Given the description of an element on the screen output the (x, y) to click on. 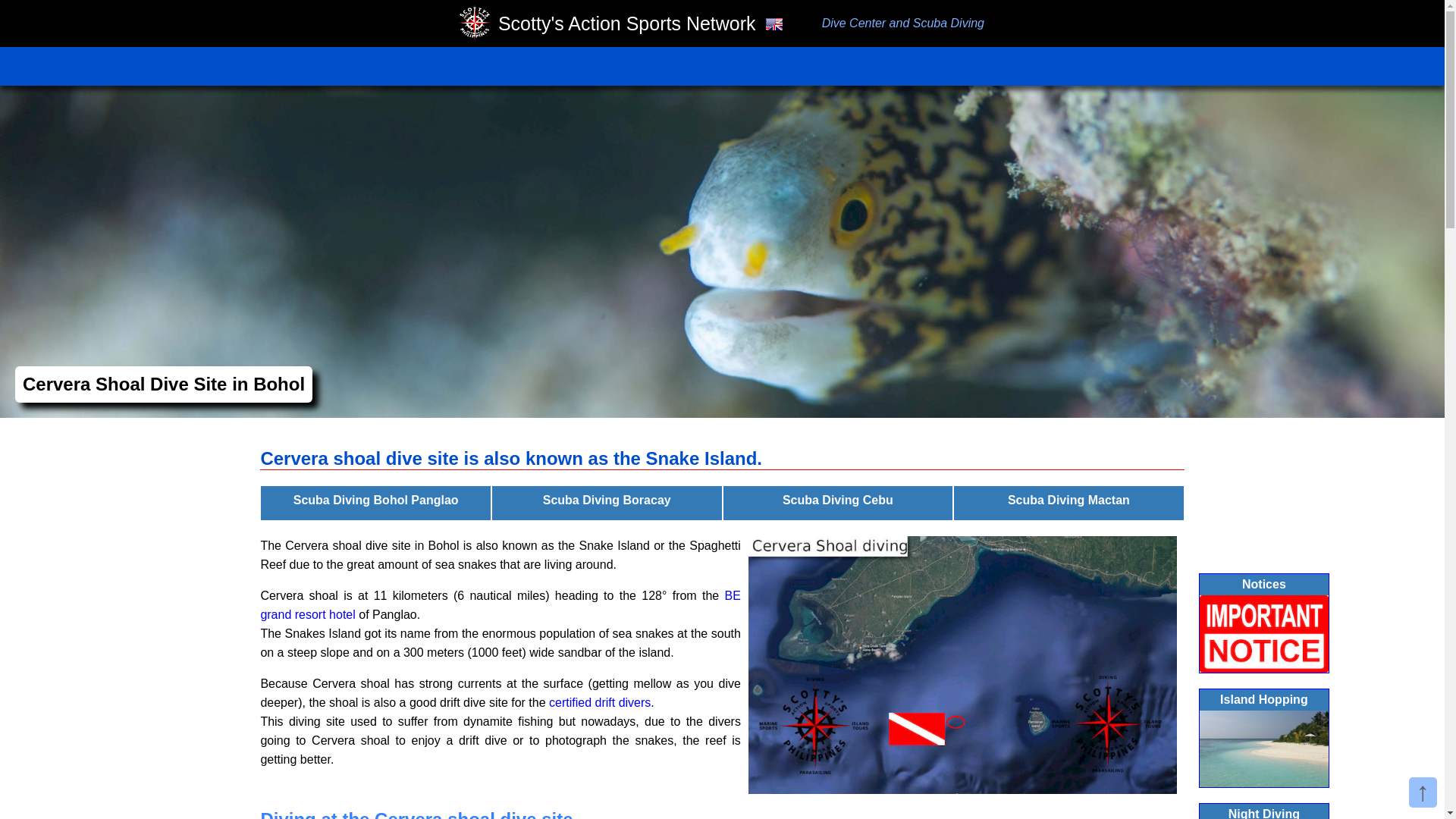
Scotty's Dive Center and Scuba Diving (475, 24)
